Given the description of an element on the screen output the (x, y) to click on. 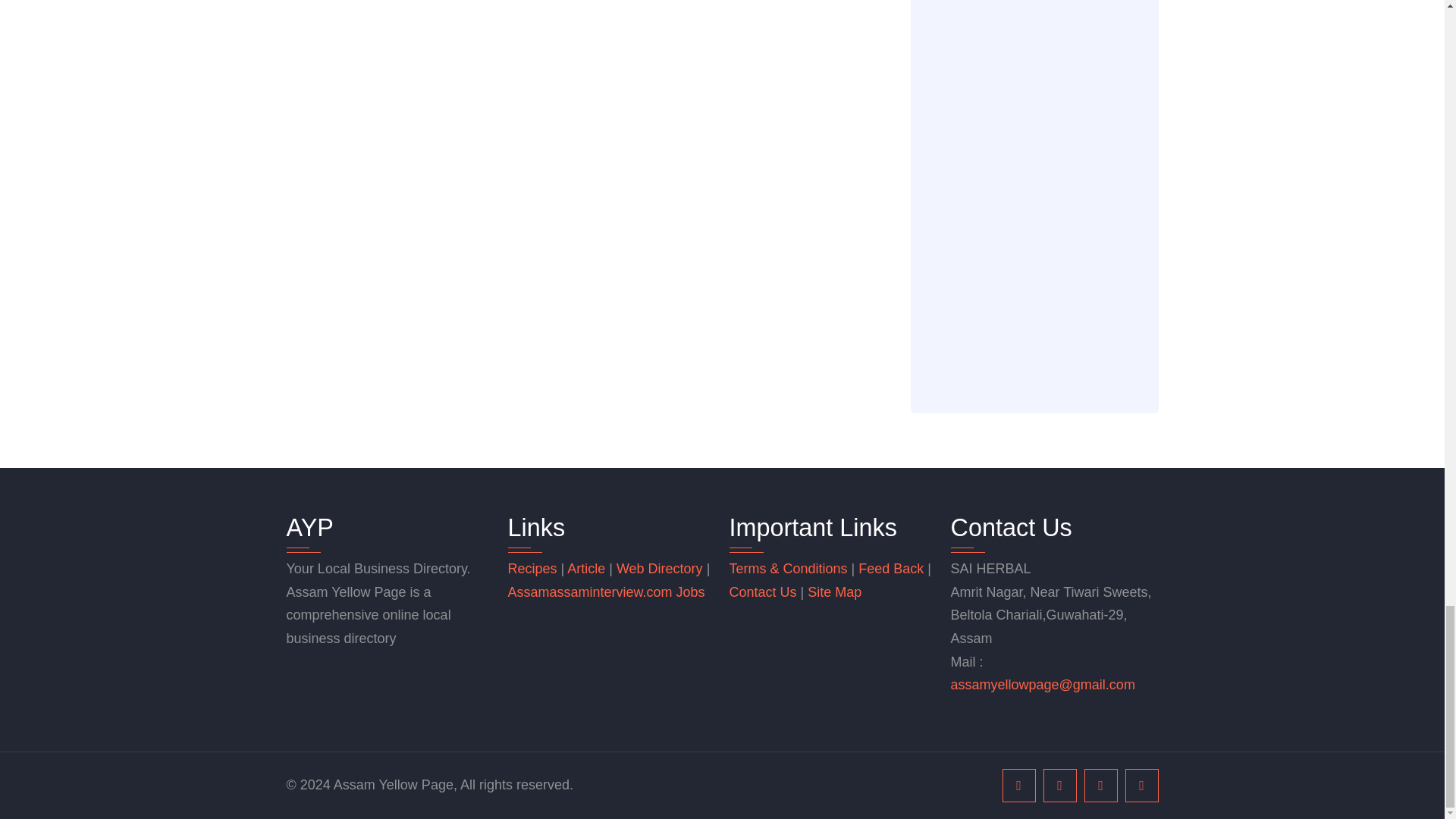
Jobs (690, 591)
Contact Us (762, 591)
Feed Back (891, 568)
Assam Interview (592, 591)
Web Directory (659, 568)
Assamassaminterview.com (592, 591)
Article (587, 568)
Recipes (534, 568)
